Given the description of an element on the screen output the (x, y) to click on. 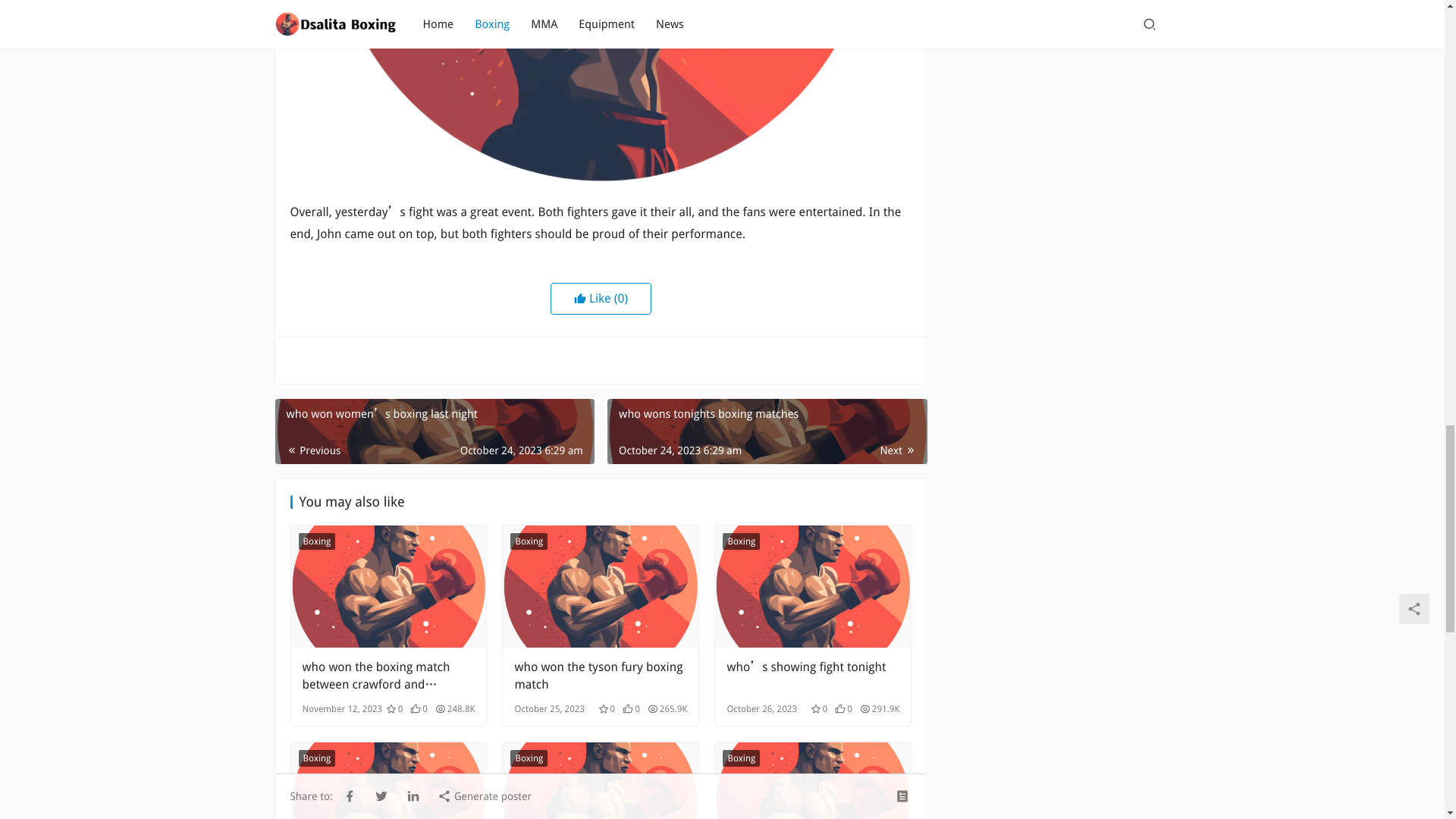
who won the boxing match between crawford and benavidez (388, 586)
Boxing (317, 541)
Boxing (317, 758)
who wons tonights boxing matches (766, 431)
Boxing (741, 541)
Boxing (529, 758)
who won the tyson fury boxing match (600, 675)
who won yesterday's fight (601, 93)
Boxing (529, 541)
who won the tyson fury boxing match (600, 675)
who won the boxing match tonight between pacquiao (812, 780)
who won the boxing match last night between wilder (388, 780)
who wons tonights boxing matches (766, 431)
who won the tyson fury boxing match (600, 586)
who won the boxing match between crawford and benavidez (387, 675)
